Given the description of an element on the screen output the (x, y) to click on. 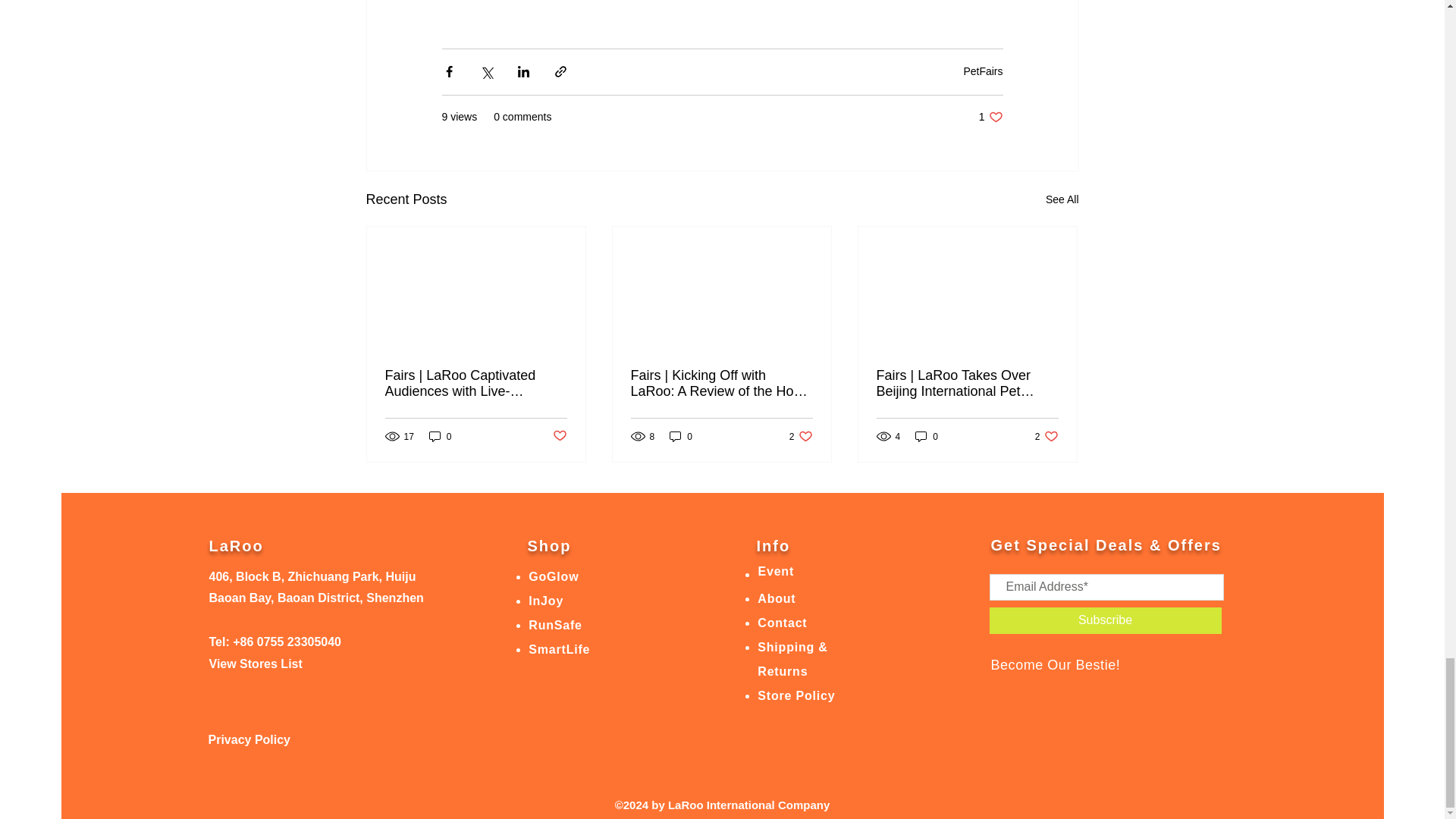
0 (800, 436)
PetFairs (1046, 436)
0 (681, 436)
0 (982, 70)
See All (926, 436)
Post not marked as liked (990, 116)
